Given the description of an element on the screen output the (x, y) to click on. 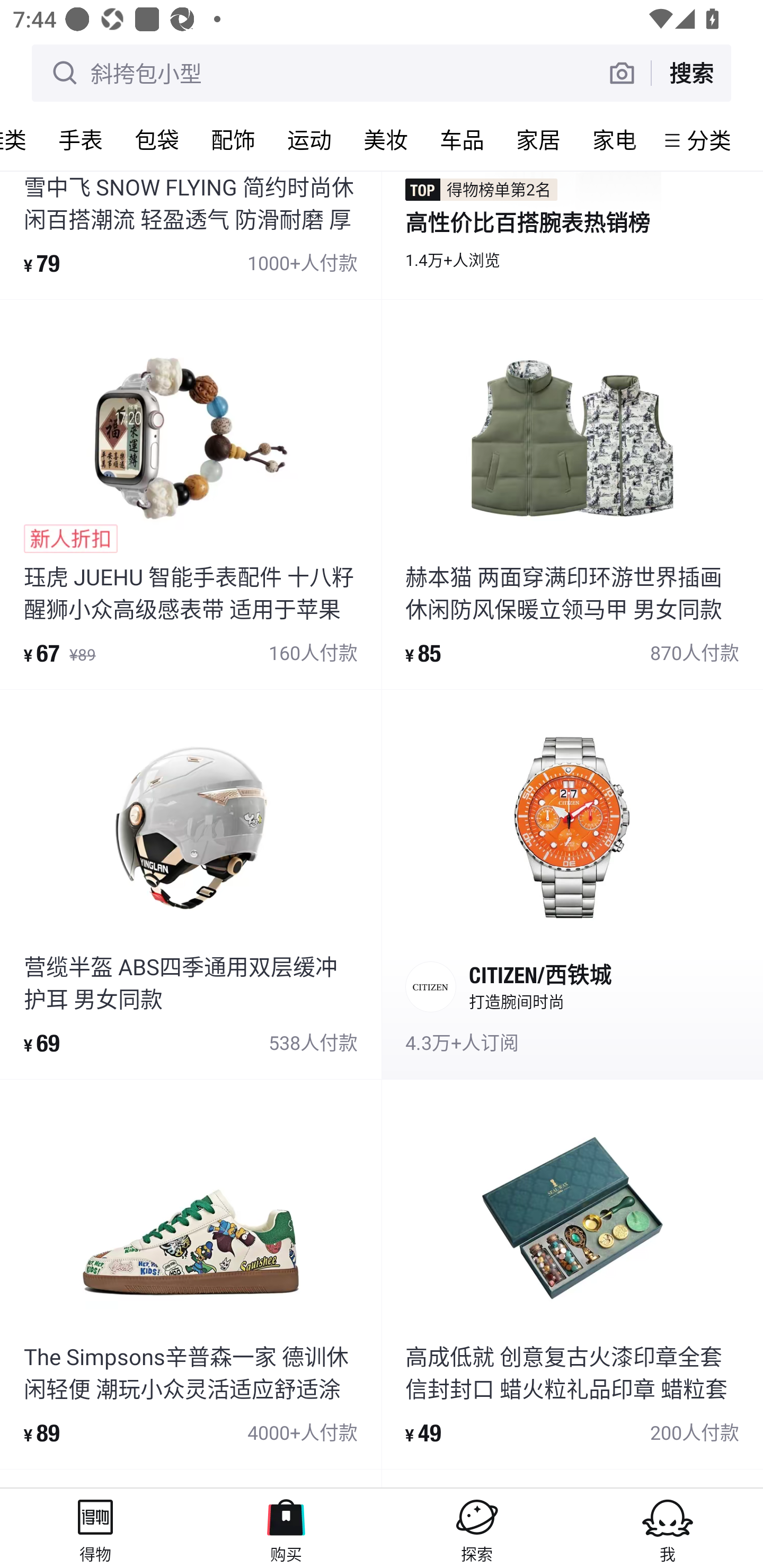
搜索 (690, 72)
手表 (80, 139)
包袋 (157, 139)
配饰 (233, 139)
运动 (309, 139)
美妆 (385, 139)
车品 (462, 139)
家居 (538, 139)
家电 (614, 139)
分类 (708, 139)
得物榜单第2名 高性价比百搭腕表热销榜 1.4万+人浏览 (572, 234)
product_item 营缆半盔 ABS四季通用双层缓冲
护耳 男女同款 ¥ 69 538人付款 (190, 883)
CITIZEN/西铁城 打造腕间时尚 4.3万+人订阅 (572, 883)
得物 (95, 1528)
购买 (285, 1528)
探索 (476, 1528)
我 (667, 1528)
